Given the description of an element on the screen output the (x, y) to click on. 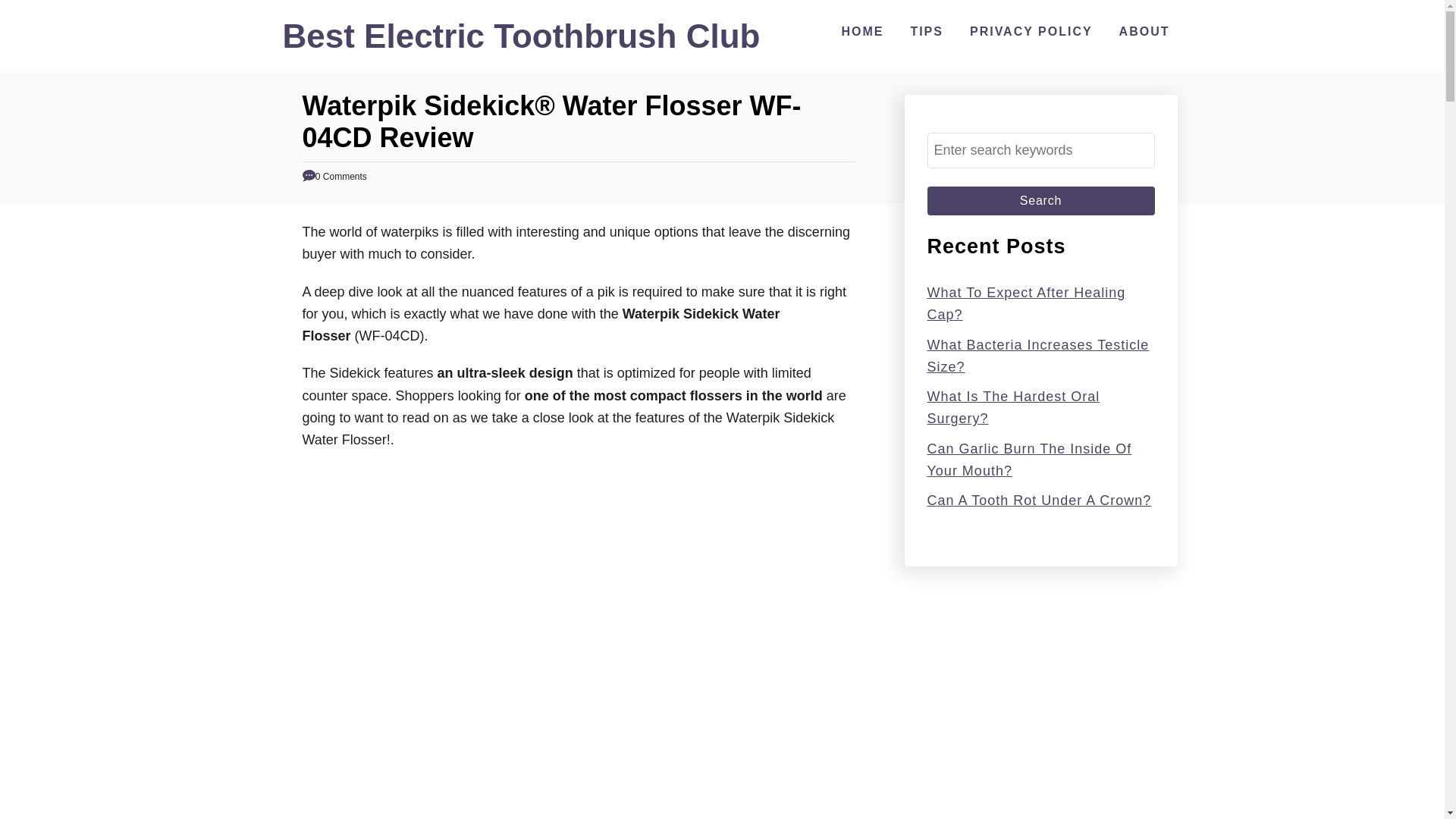
Search (1040, 200)
What Bacteria Increases Testicle Size? (1037, 355)
Can Garlic Burn The Inside Of Your Mouth? (1028, 459)
ABOUT (1144, 31)
What Is The Hardest Oral Surgery? (1012, 407)
Can A Tooth Rot Under A Crown? (1038, 500)
PRIVACY POLICY (1031, 31)
TIPS (926, 31)
What To Expect After Healing Cap? (1025, 303)
Best Electric Toothbrush Club (521, 43)
